Given the description of an element on the screen output the (x, y) to click on. 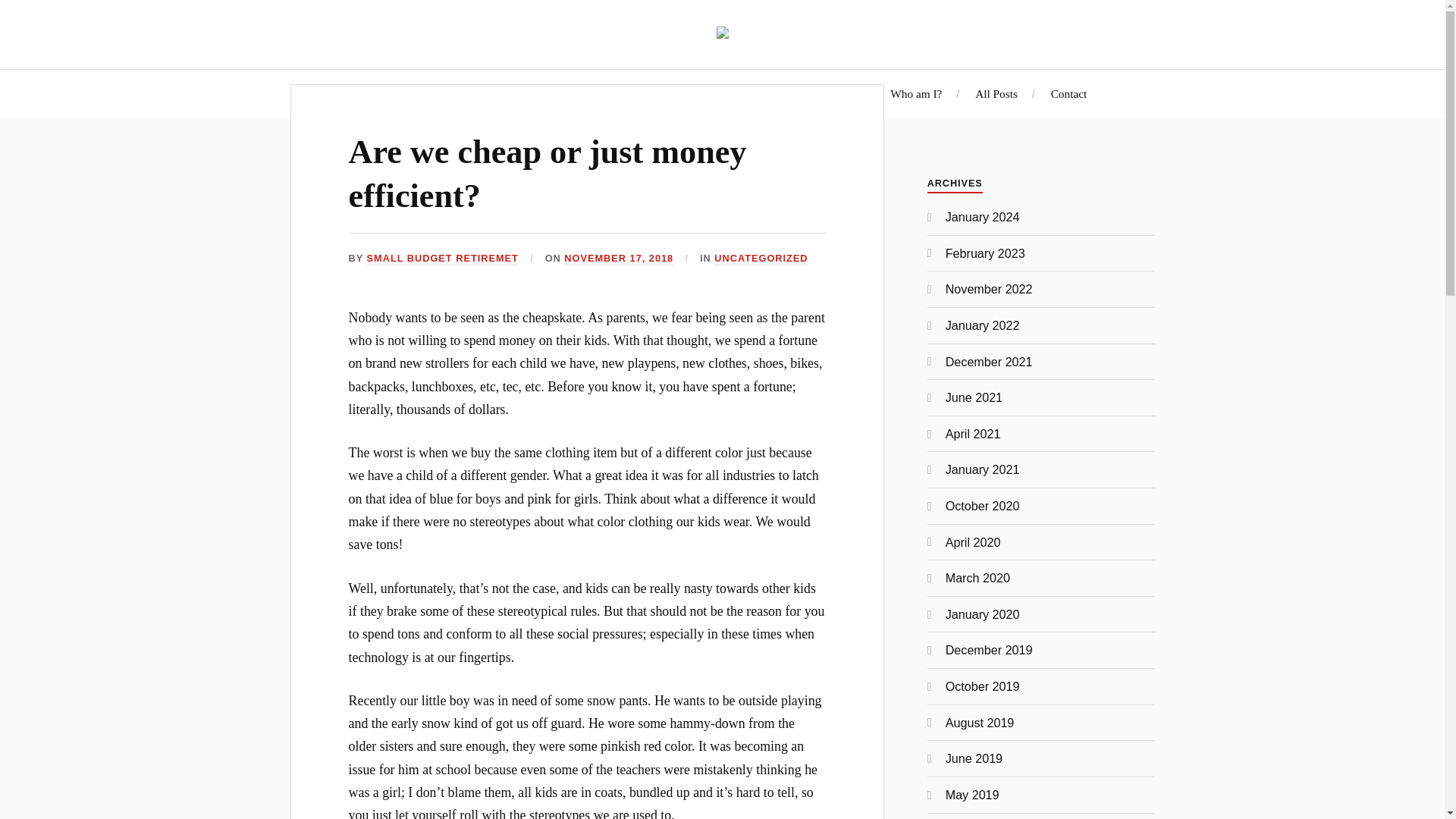
Resources I dig (820, 93)
November 2022 (988, 288)
SMALL BUDGET RETIREMET (442, 258)
NOVEMBER 17, 2018 (618, 258)
Who am I? (915, 93)
January 2022 (982, 325)
April 2021 (972, 433)
January 2021 (982, 468)
Are we cheap or just money efficient? (547, 173)
June 2021 (973, 397)
December 2021 (988, 361)
February 2023 (984, 253)
UNCATEGORIZED (761, 258)
Posts by Small Budget Retiremet (442, 258)
Templates and calculators (691, 93)
